Given the description of an element on the screen output the (x, y) to click on. 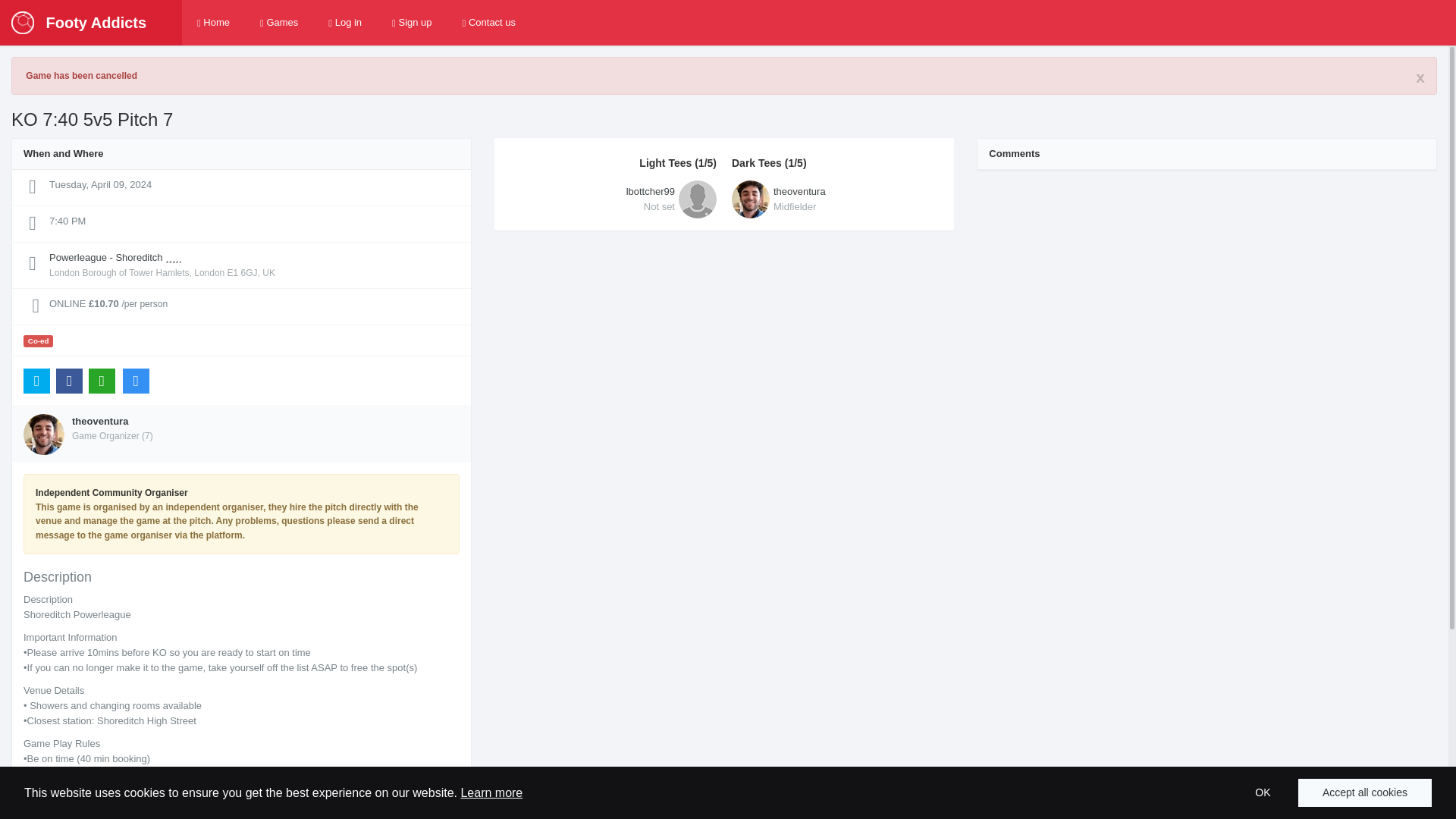
Footy Addicts (611, 199)
Log in (78, 22)
Contact us (345, 22)
Sign up (488, 22)
Theo Ventura (411, 22)
Theo Ventura (837, 199)
Home (99, 420)
OK (837, 199)
Accept all cookies (213, 22)
theoventura (1262, 792)
Games (1364, 792)
Copy link to clipboard (99, 420)
